Given the description of an element on the screen output the (x, y) to click on. 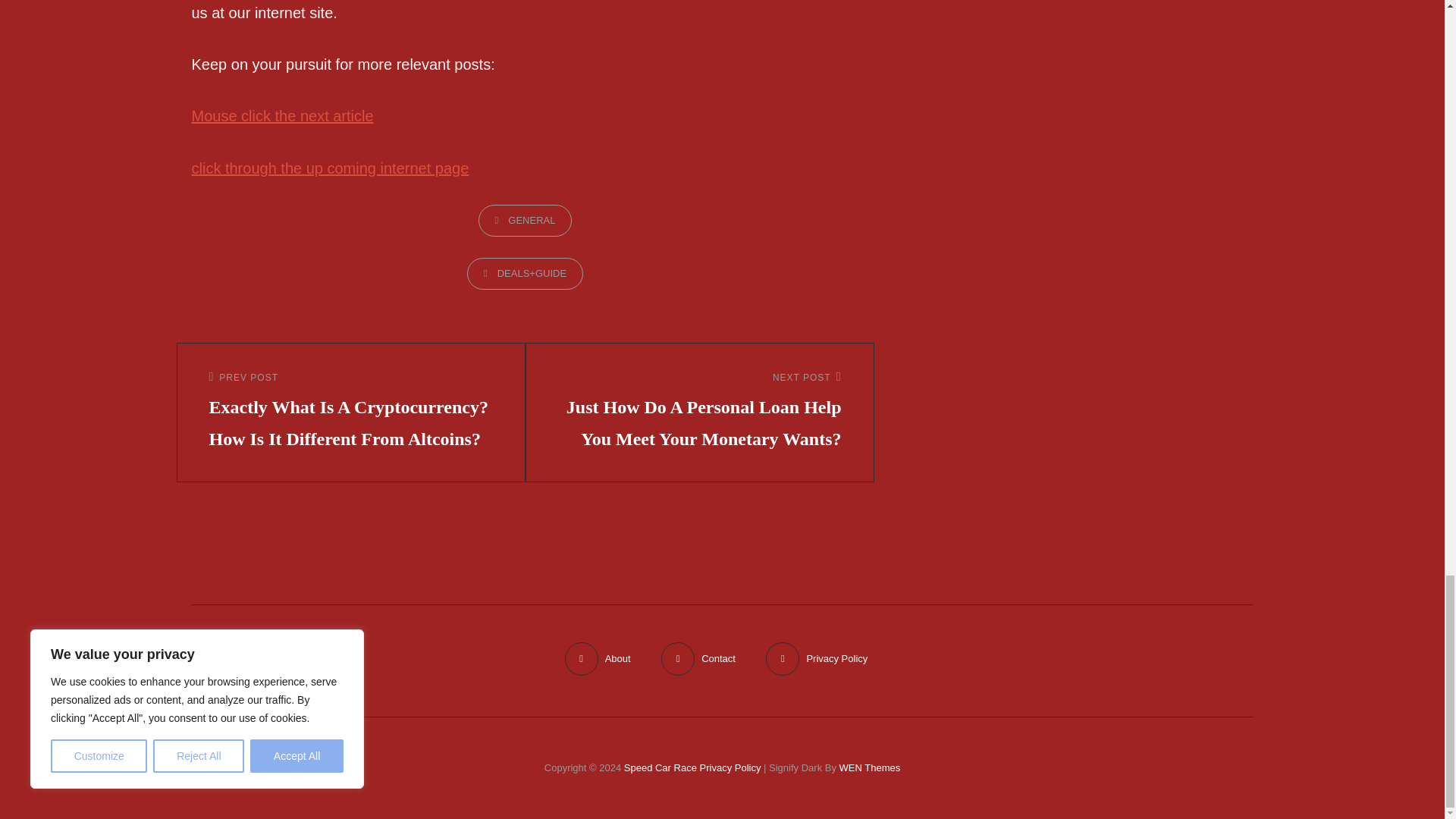
Mouse click the next article (281, 115)
click through the up coming internet page (329, 167)
GENERAL (525, 220)
